Given the description of an element on the screen output the (x, y) to click on. 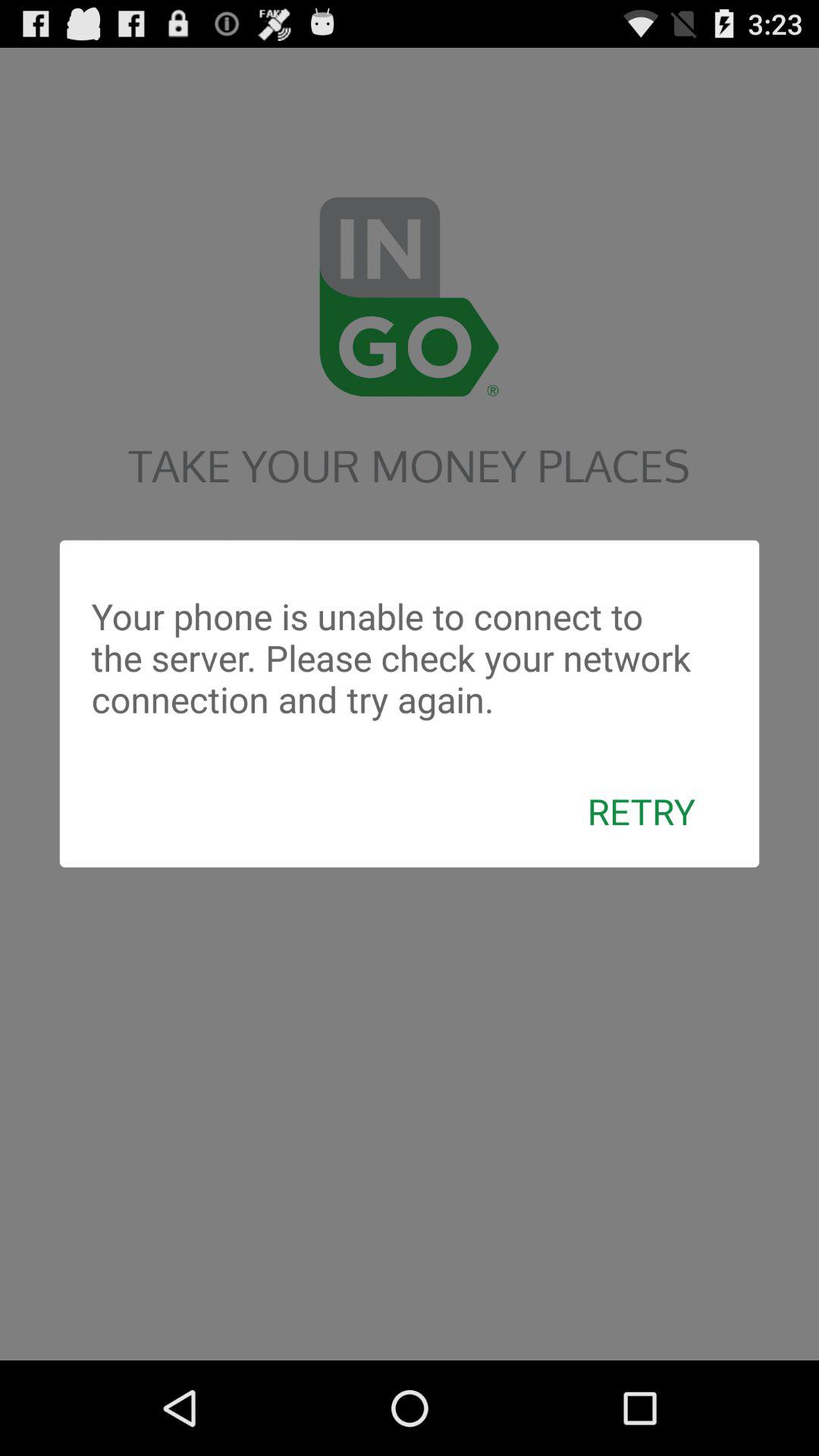
scroll to the retry icon (641, 811)
